Given the description of an element on the screen output the (x, y) to click on. 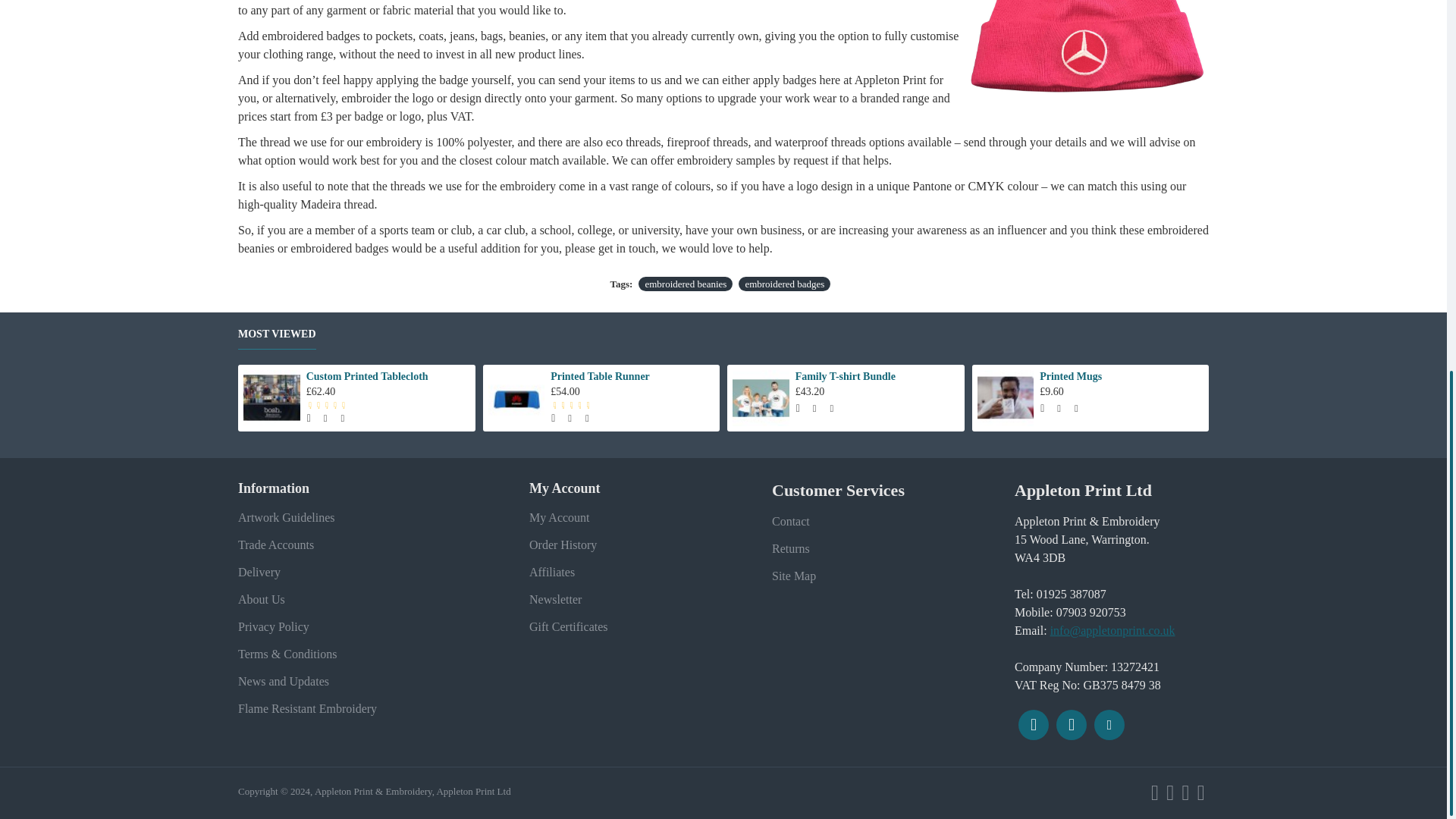
Printed Mugs (1004, 398)
Family T-shirt Bundle (760, 398)
Amazing embroidered beanies (1087, 57)
Printed Table Runner (515, 398)
Custom Printed Tablecloth (271, 398)
